Given the description of an element on the screen output the (x, y) to click on. 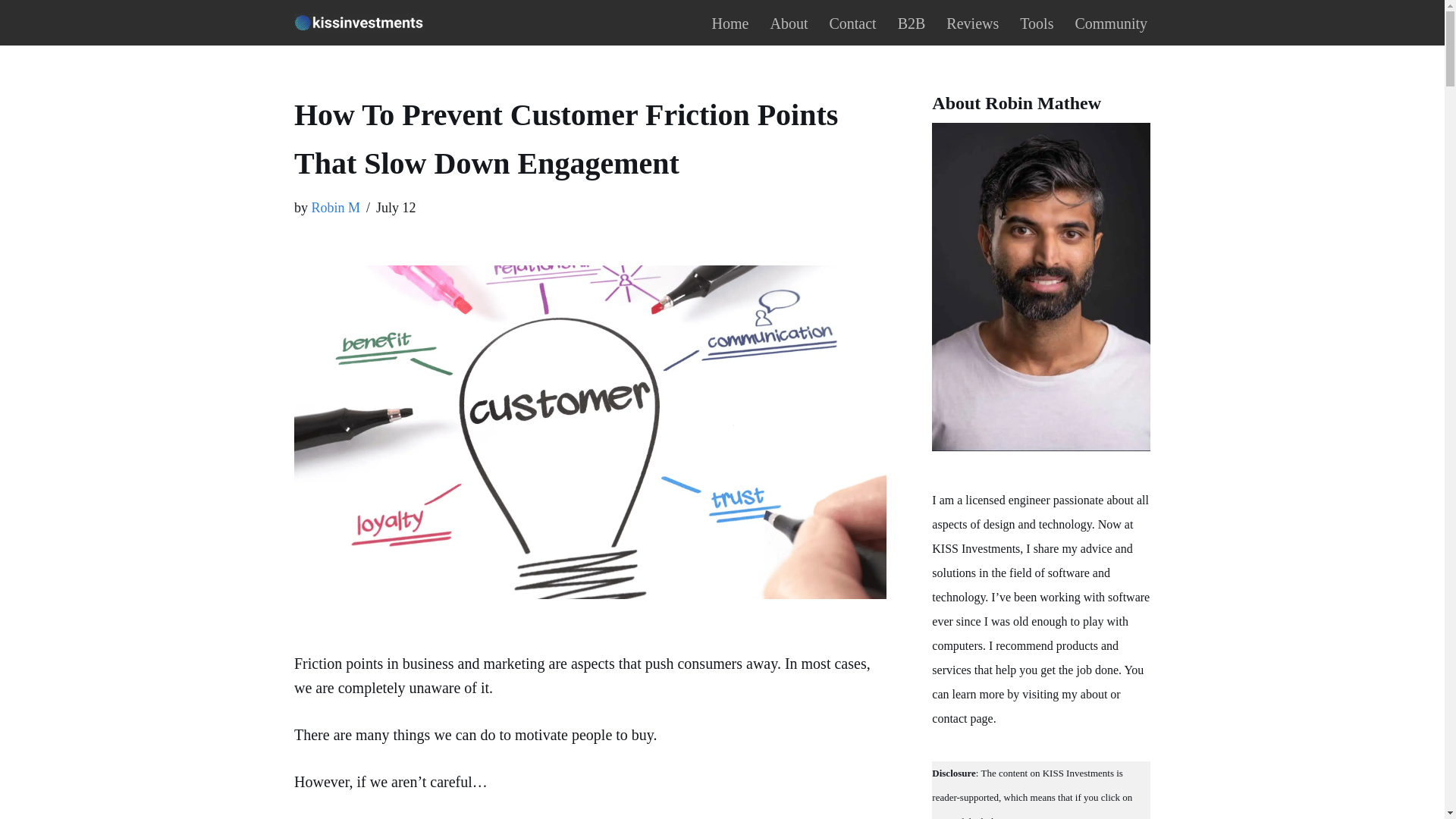
Skip to content (11, 31)
About (789, 23)
Tools (1036, 23)
Robin M (335, 207)
Posts by Robin M (335, 207)
Community (1110, 23)
About Robin Mathew (1040, 286)
B2B (912, 23)
Contact (852, 23)
Home (730, 23)
Reviews (972, 23)
